Given the description of an element on the screen output the (x, y) to click on. 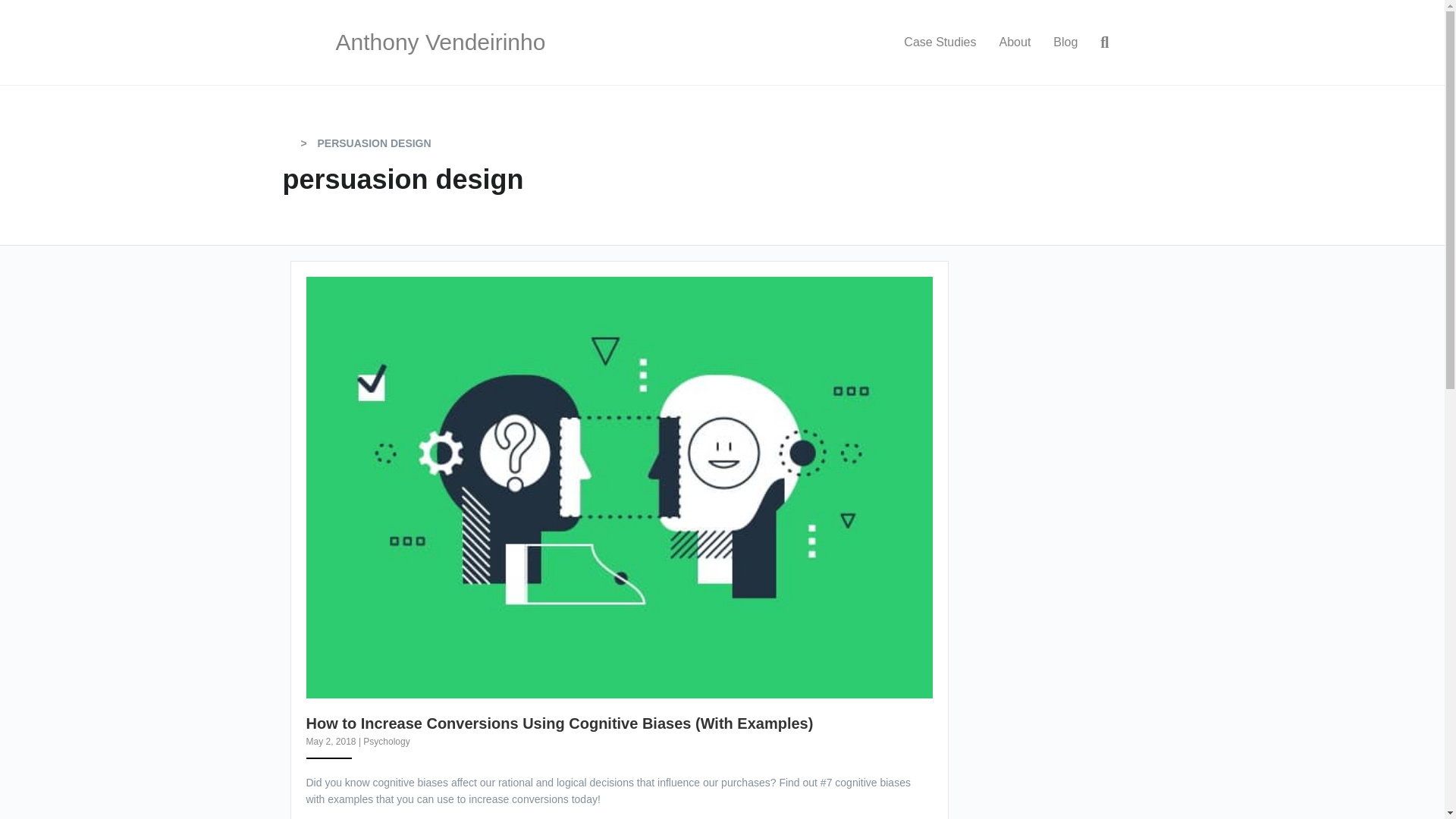
Read More (335, 818)
Anthony Vendeirinho (457, 41)
HOME (289, 142)
Psychology (385, 741)
Case Studies (939, 42)
About (1015, 42)
Blog (1065, 42)
